Given the description of an element on the screen output the (x, y) to click on. 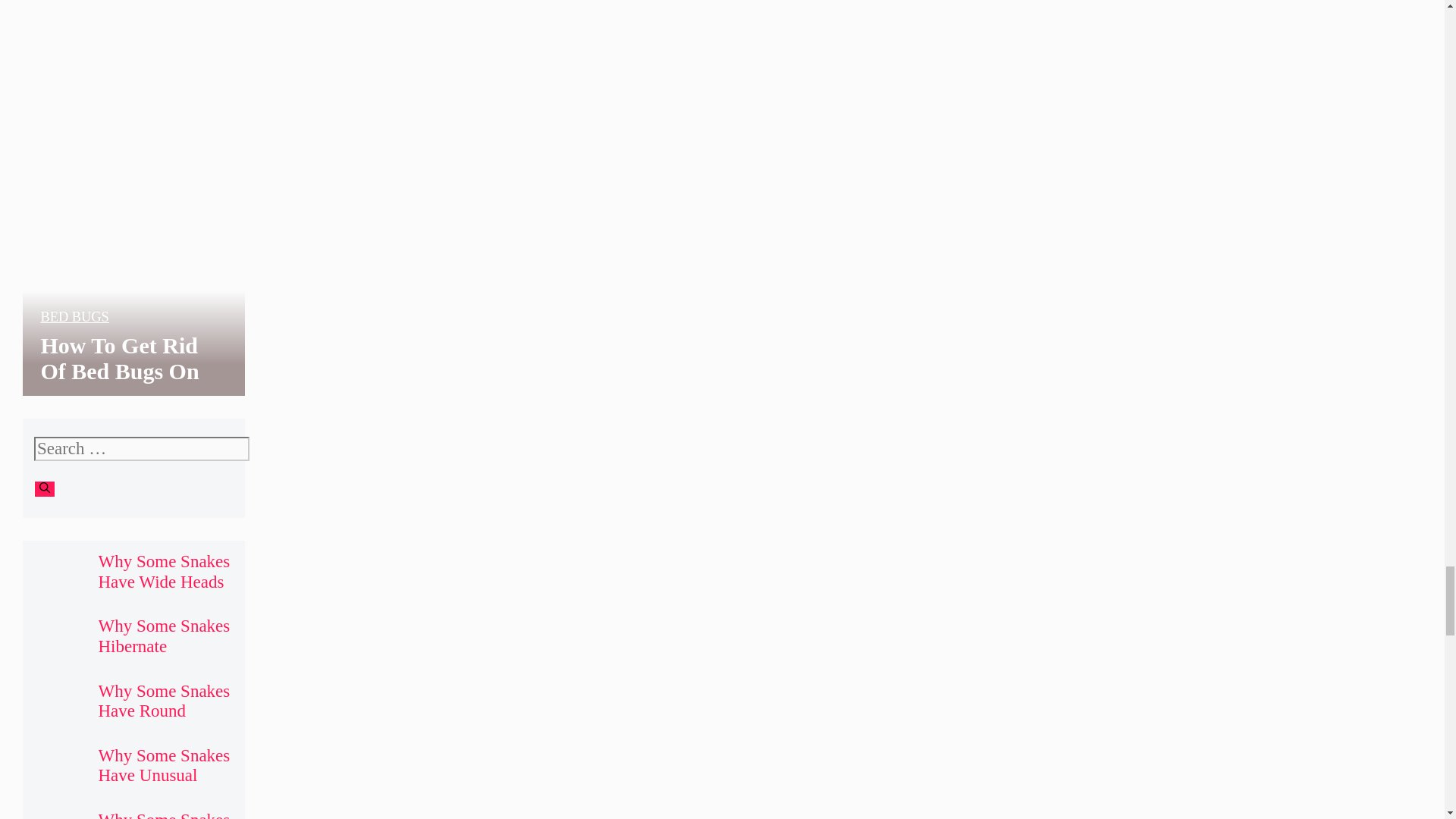
Why Some Snakes Have Wide Heads (164, 571)
How To Get Rid Of Bed Bugs On Cats? (119, 371)
Why Some Snakes Hibernate (164, 635)
BED BUGS (73, 316)
